Given the description of an element on the screen output the (x, y) to click on. 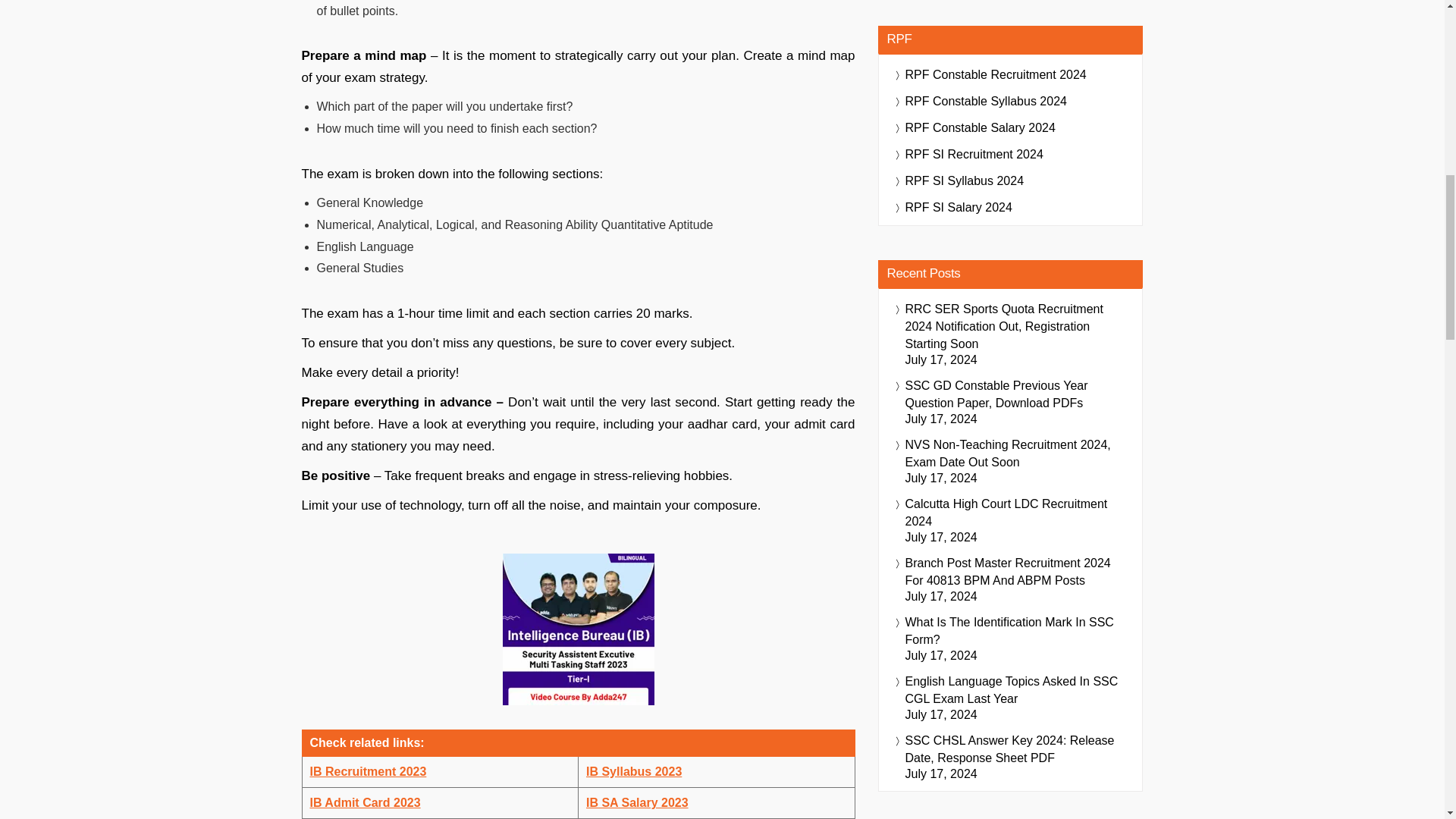
IB Recruitment 2023 (367, 771)
